Given the description of an element on the screen output the (x, y) to click on. 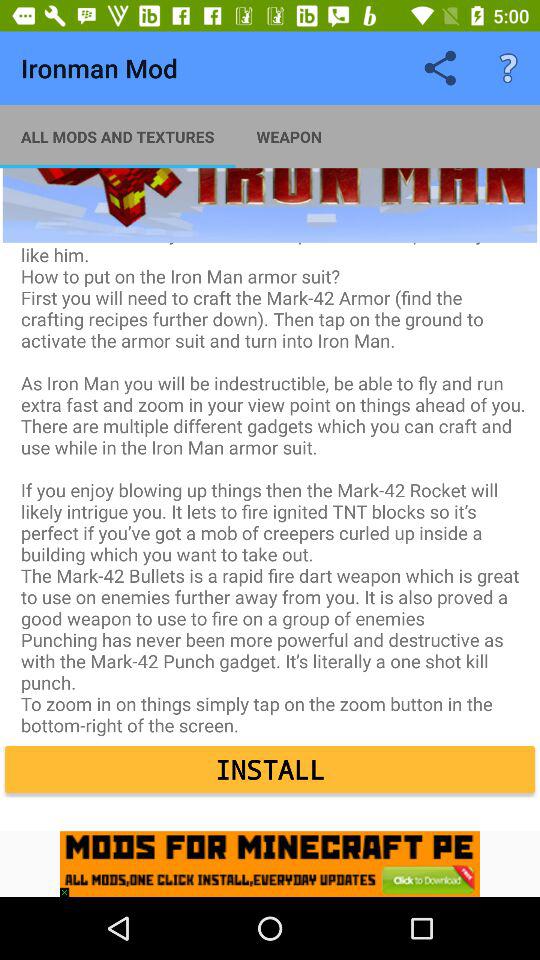
select icon at the bottom left corner (69, 887)
